Given the description of an element on the screen output the (x, y) to click on. 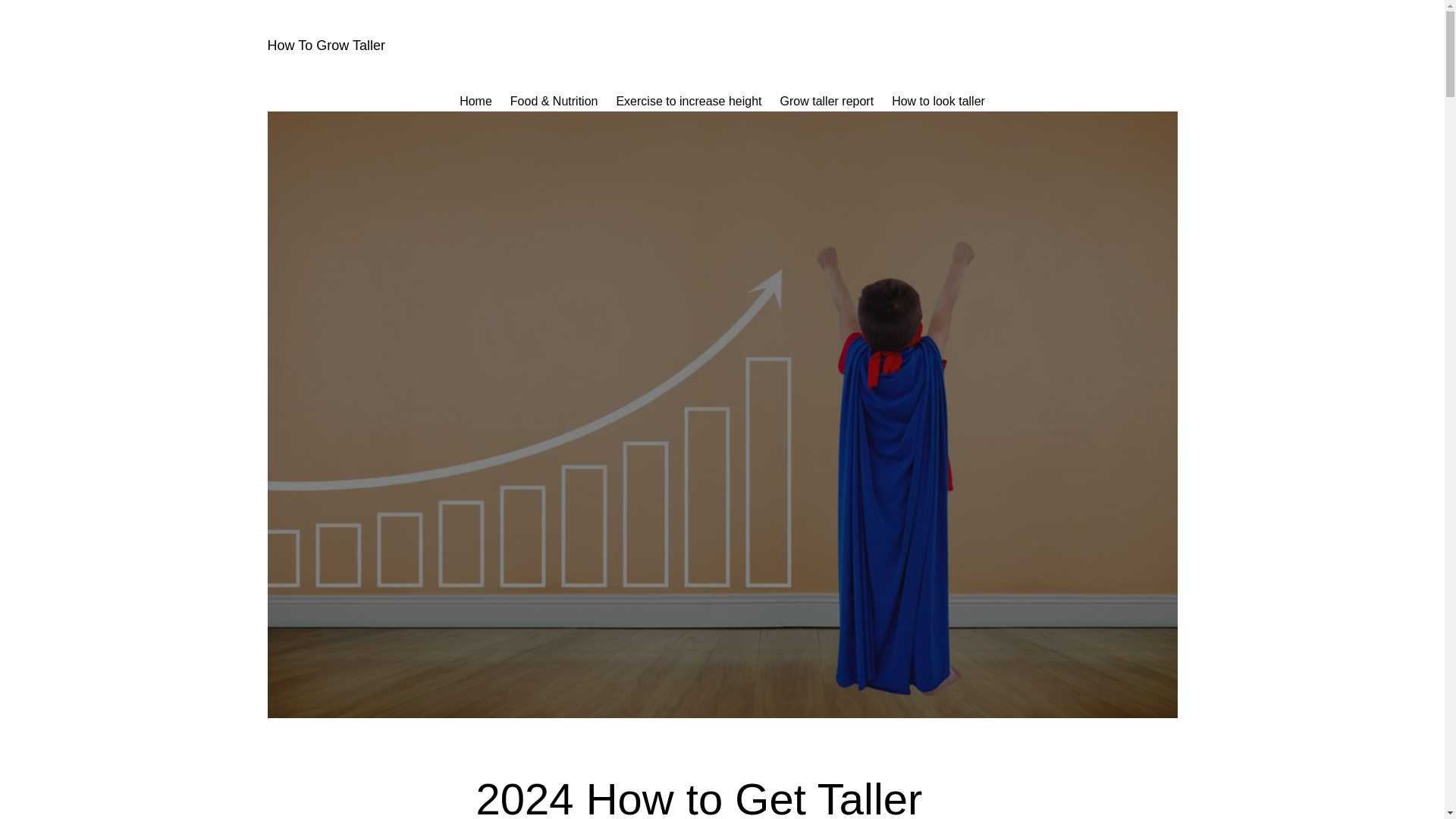
Home (476, 101)
Grow taller report (827, 101)
Exercise to increase height (688, 101)
How to look taller (938, 101)
How To Grow Taller (325, 45)
